Given the description of an element on the screen output the (x, y) to click on. 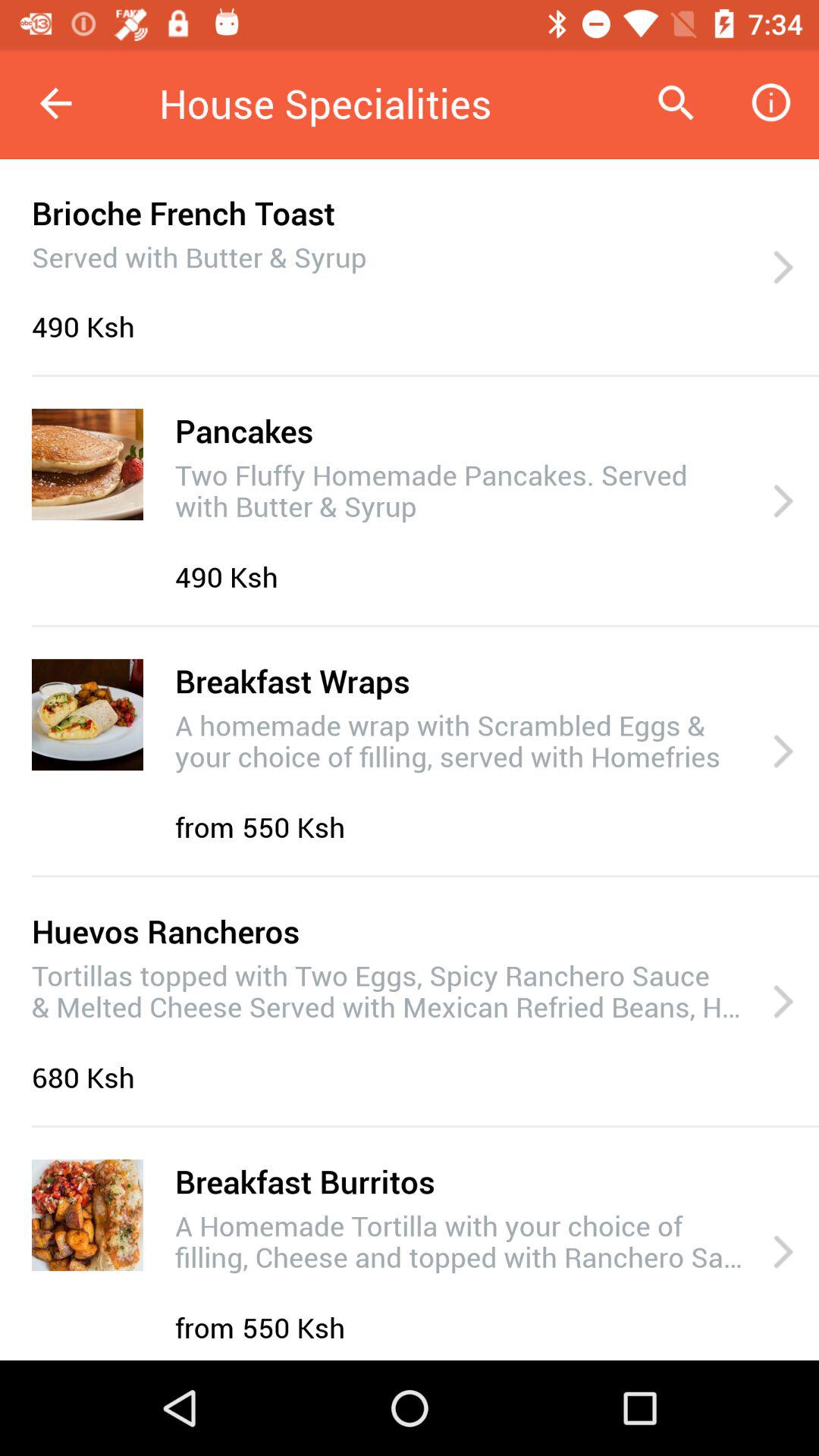
swipe to the 680 ksh item (86, 1076)
